Given the description of an element on the screen output the (x, y) to click on. 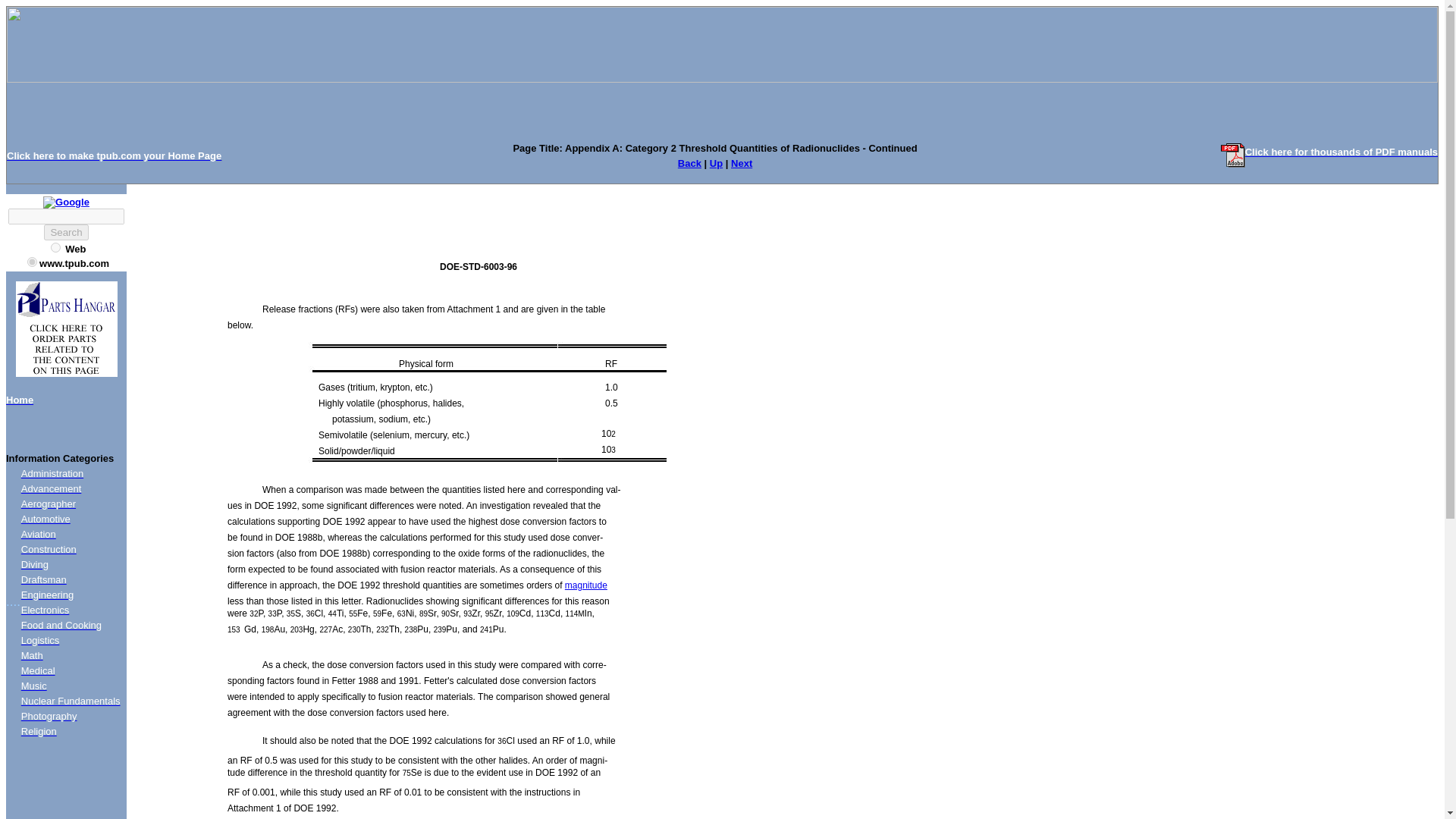
Photography (49, 715)
Religion (38, 731)
www.tpub.com (32, 261)
Home (19, 399)
Click here to make tpub.com your Home Page (114, 155)
Aviation (38, 533)
Electronics (45, 609)
Draftsman (43, 579)
Search (65, 232)
Logistics (40, 640)
